Given the description of an element on the screen output the (x, y) to click on. 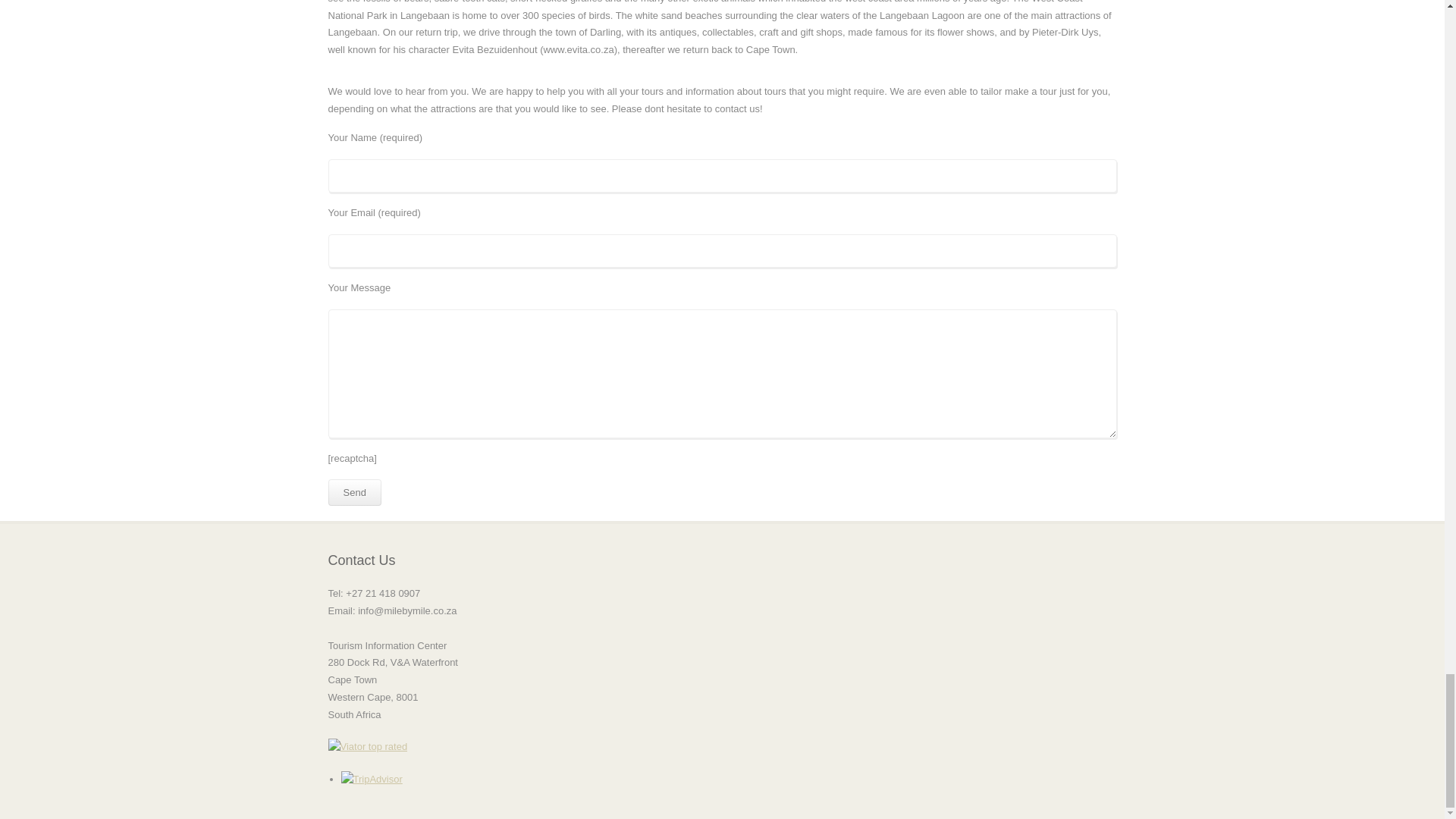
Send (353, 492)
